Given the description of an element on the screen output the (x, y) to click on. 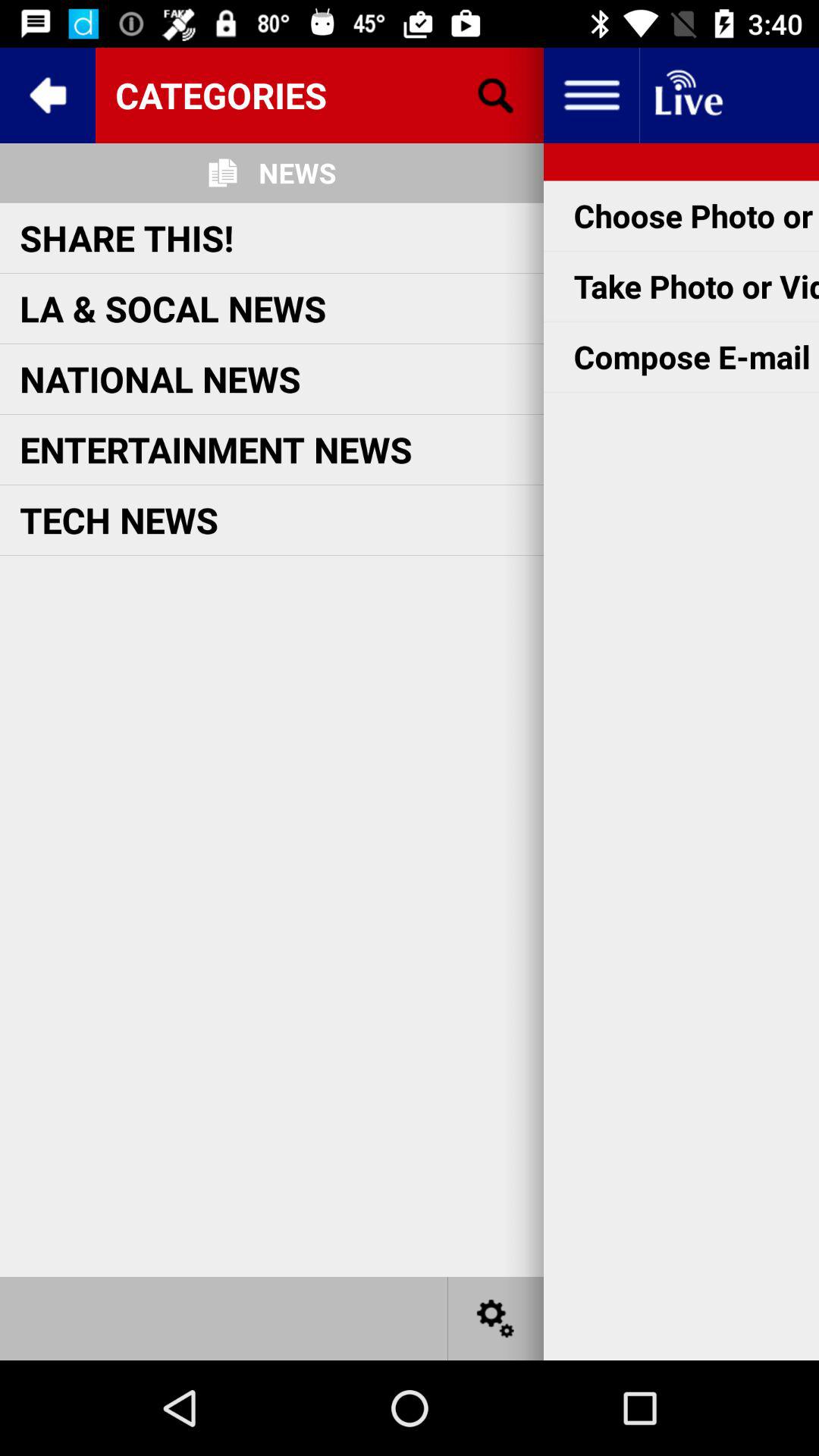
turn on the categories (319, 95)
